Given the description of an element on the screen output the (x, y) to click on. 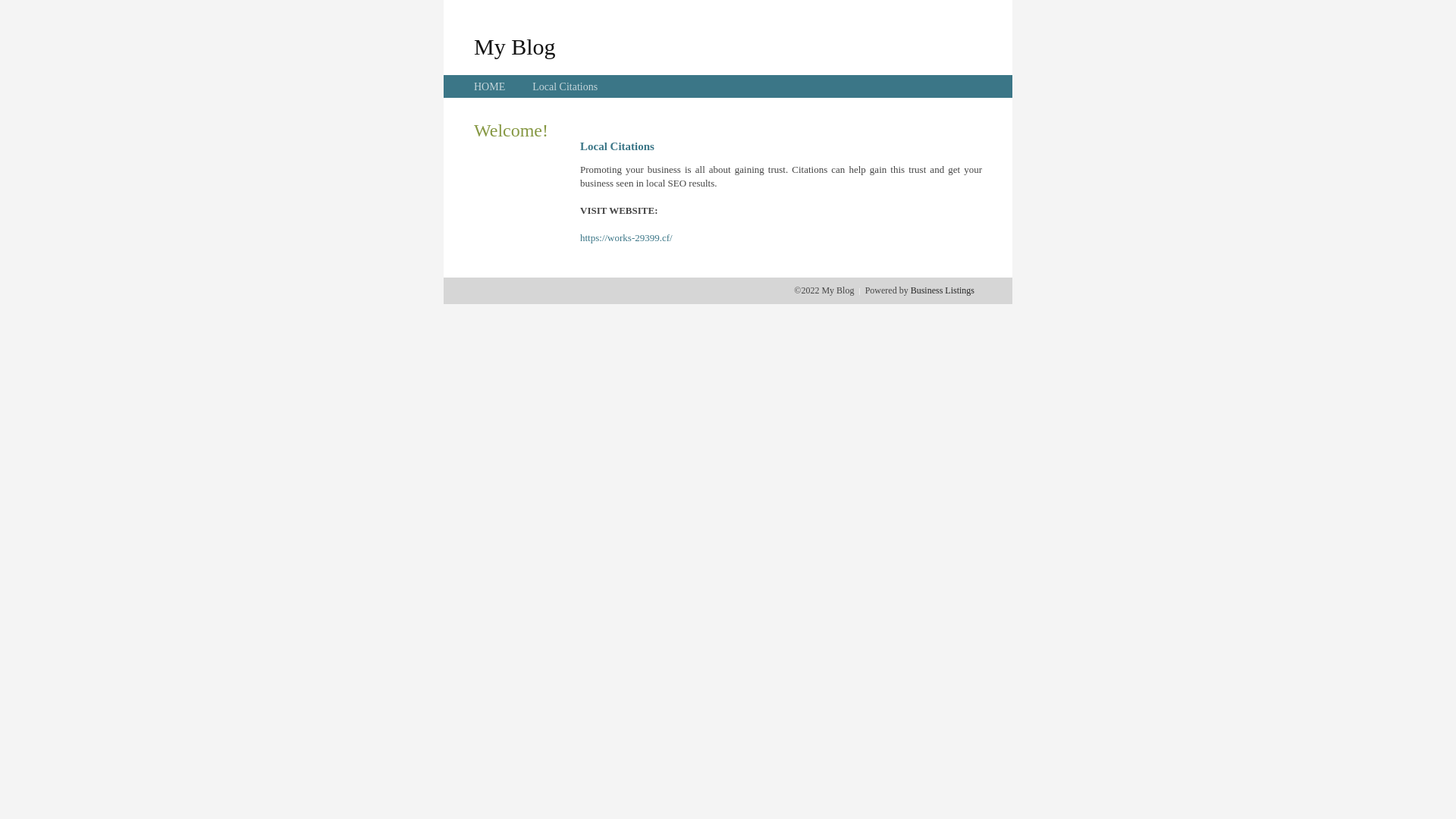
Local Citations Element type: text (564, 86)
My Blog Element type: text (514, 46)
Business Listings Element type: text (942, 290)
HOME Element type: text (489, 86)
https://works-29399.cf/ Element type: text (626, 237)
